Given the description of an element on the screen output the (x, y) to click on. 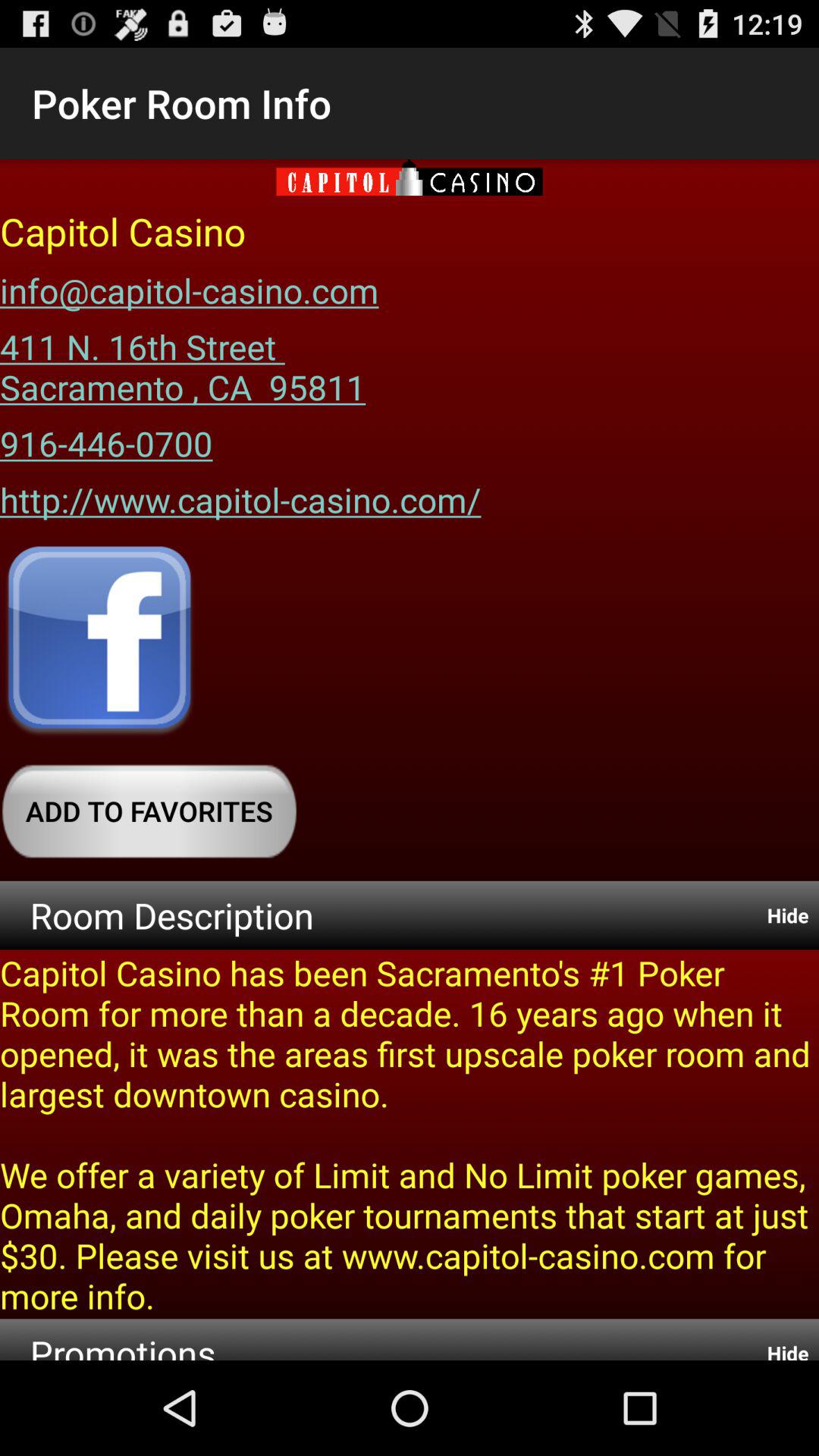
launch icon below info capitol casino icon (182, 361)
